Given the description of an element on the screen output the (x, y) to click on. 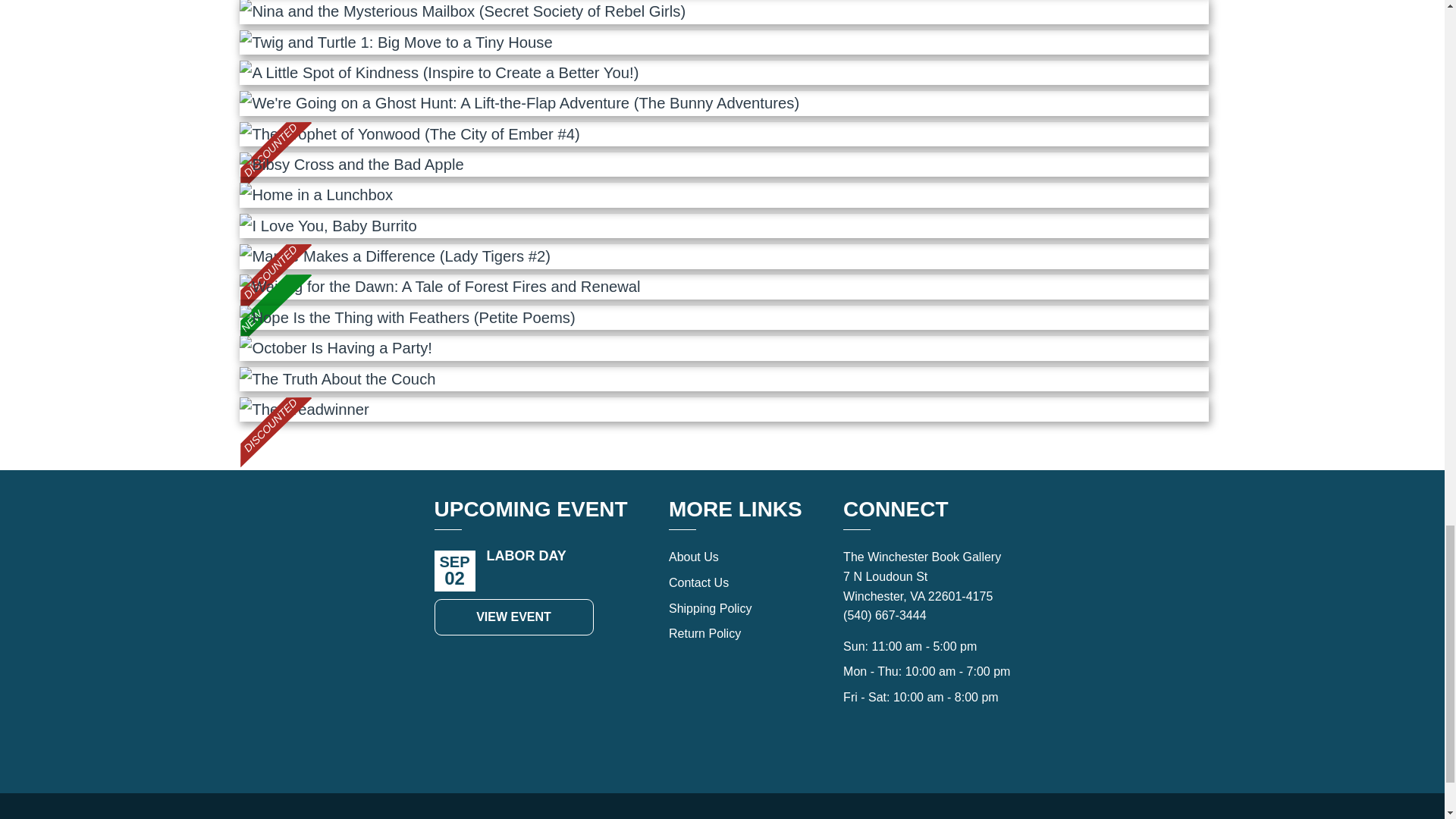
DISCOUNTED (724, 134)
Connect with Facebook (852, 740)
Connect with Instagram (885, 740)
